Given the description of an element on the screen output the (x, y) to click on. 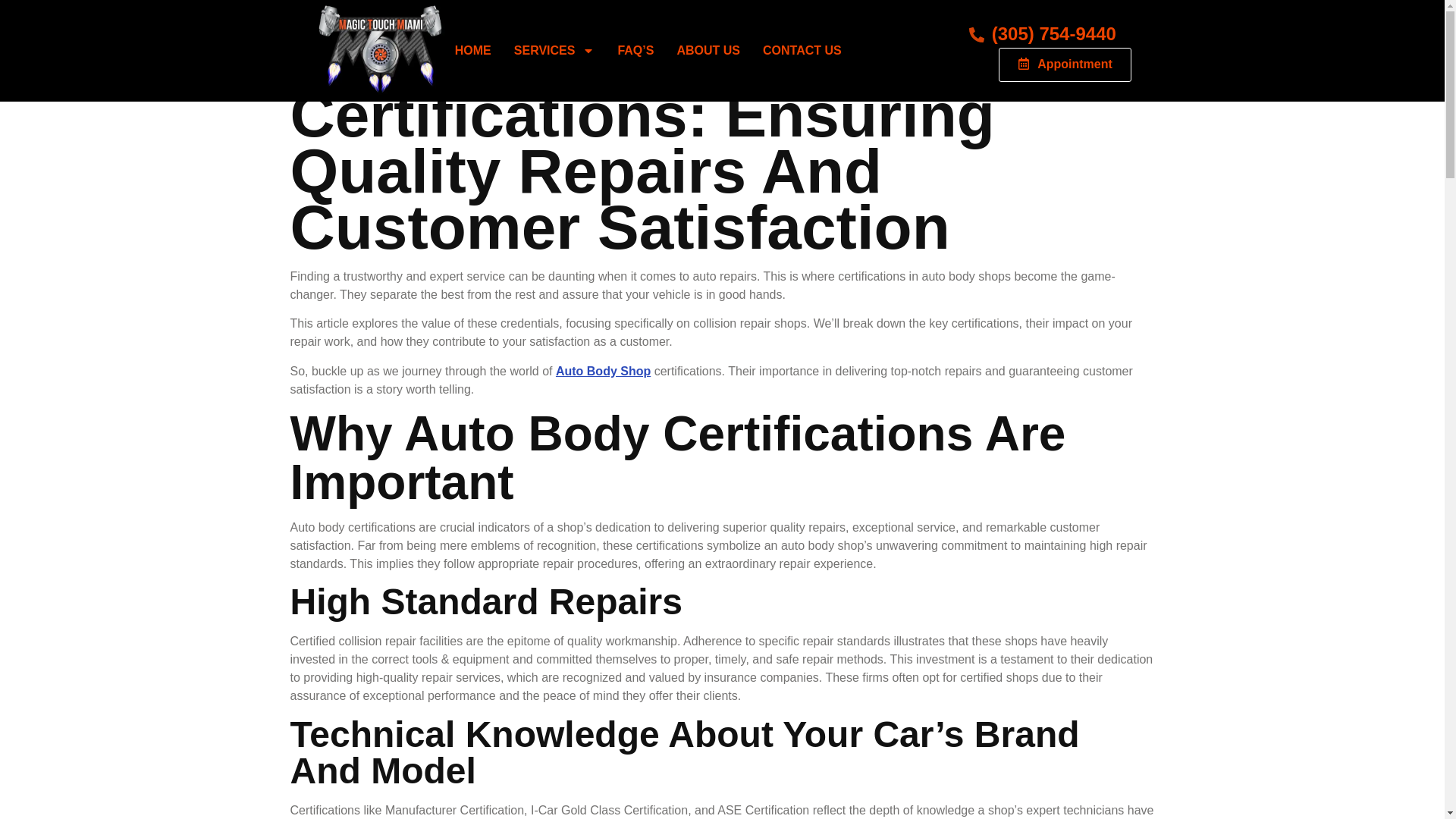
Appointment (1064, 64)
SERVICES (554, 50)
HOME (473, 50)
CONTACT US (801, 50)
ABOUT US (708, 50)
Auto Body Shop (603, 370)
